Given the description of an element on the screen output the (x, y) to click on. 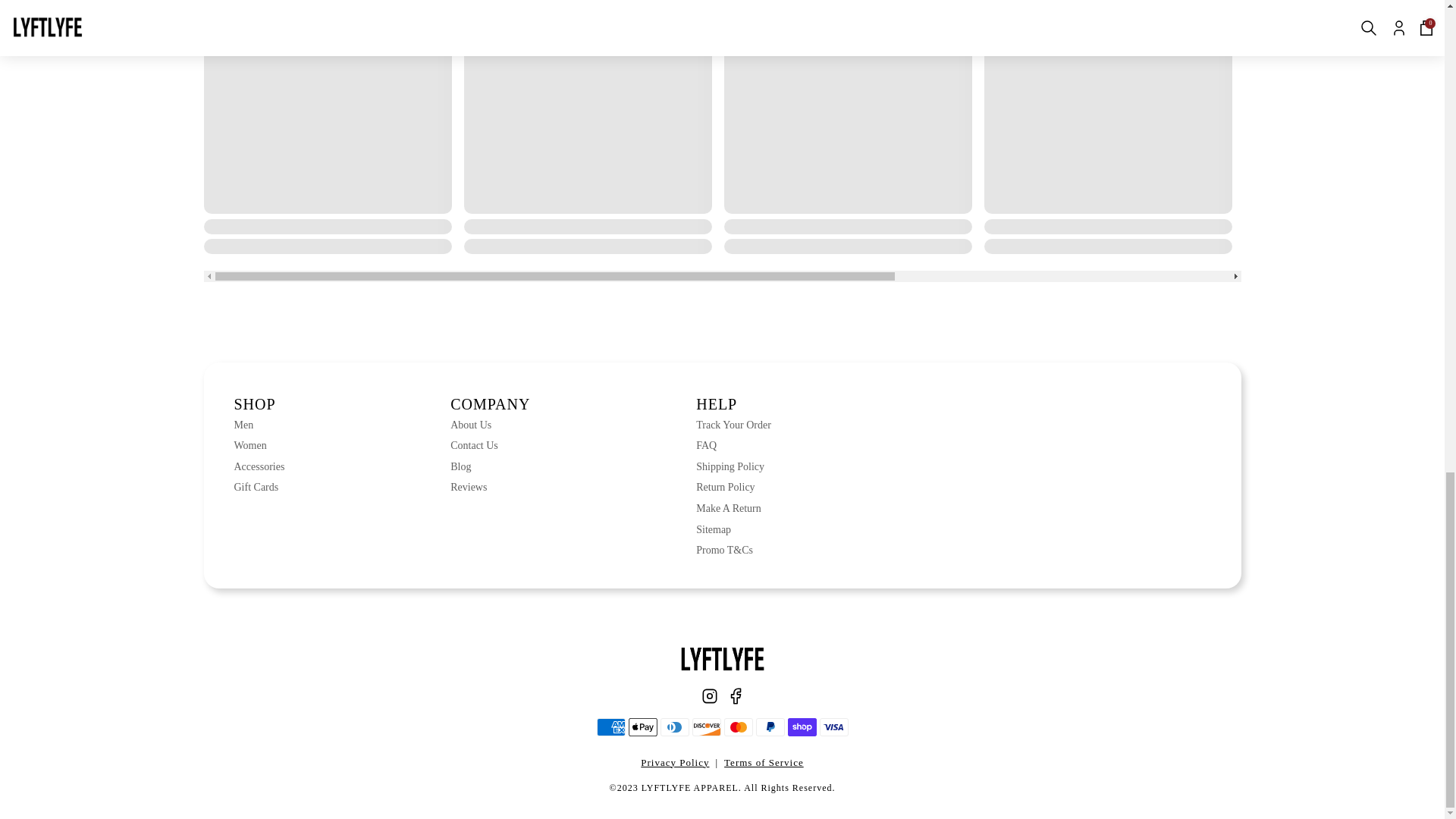
Men (257, 425)
Terms of Service (763, 762)
Women (257, 445)
Sitemap (733, 529)
Return Policy (733, 487)
Shipping Policy (733, 467)
Make A Return (733, 508)
Gift Cards (257, 487)
Privacy Policy (674, 762)
Reviews (489, 487)
